Given the description of an element on the screen output the (x, y) to click on. 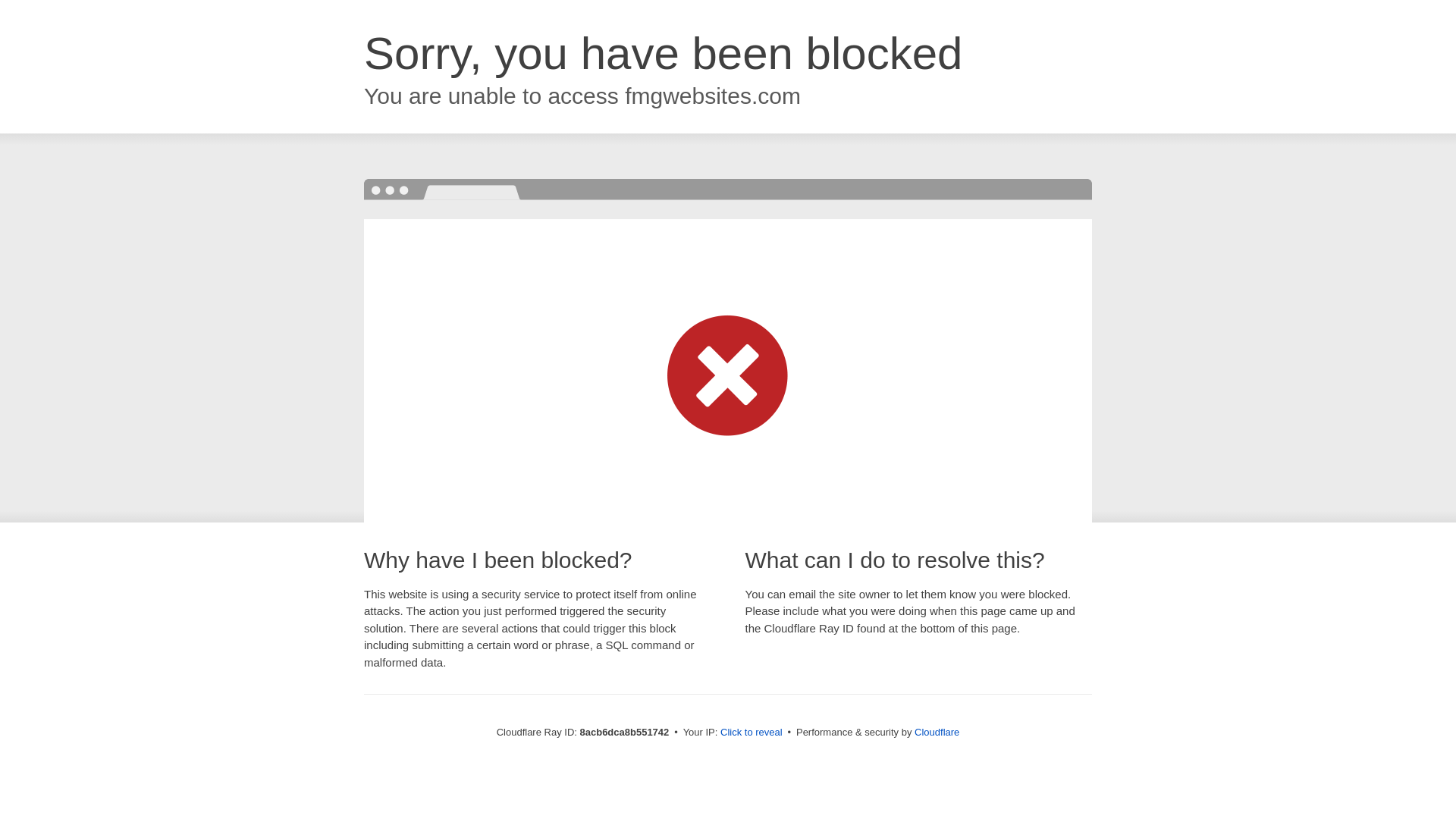
Cloudflare (936, 731)
Click to reveal (751, 732)
